Given the description of an element on the screen output the (x, y) to click on. 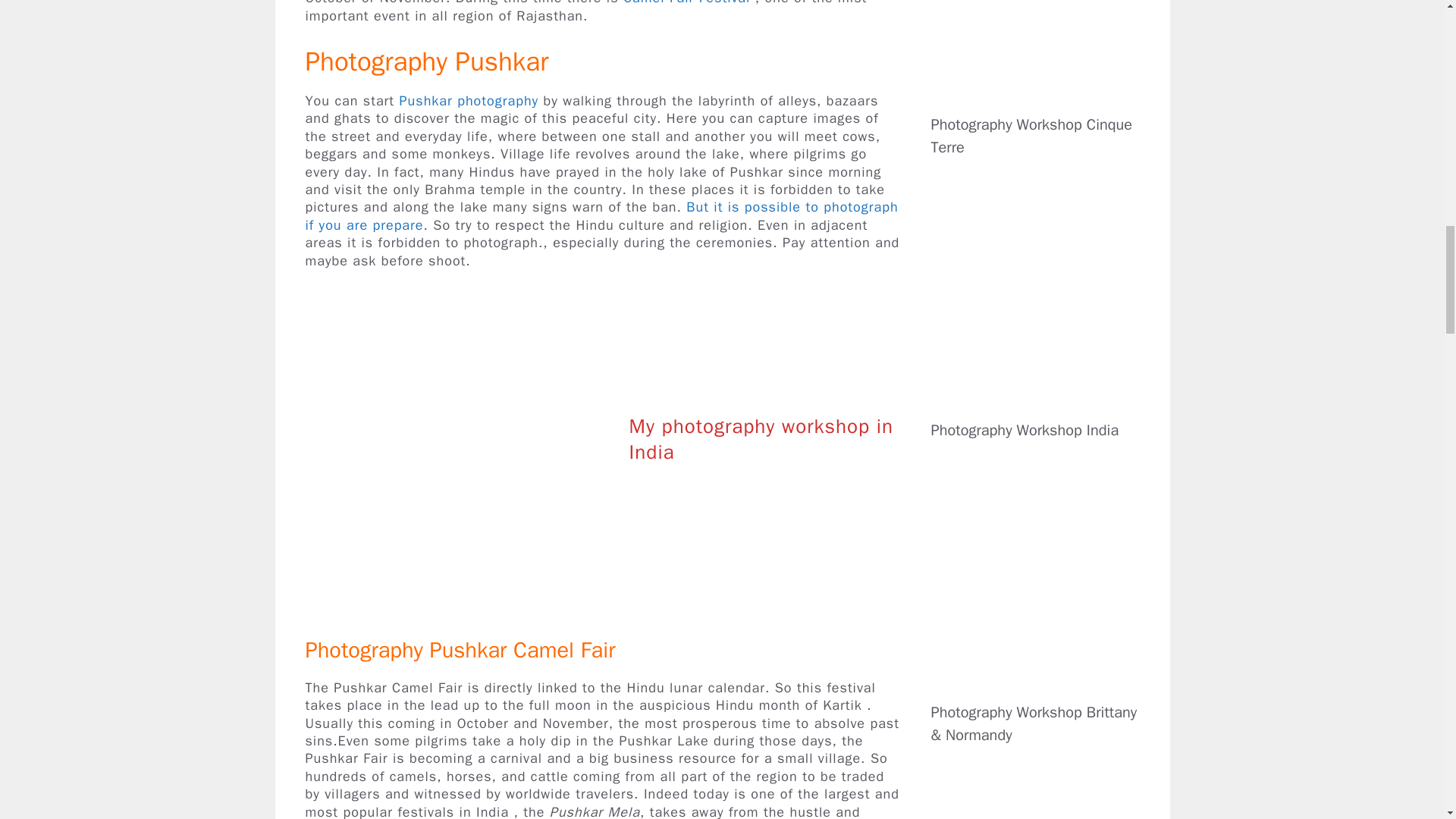
But it is possible to photograph if you are prepare (601, 215)
Camel Fair Festival (686, 2)
Pushkar photography (468, 100)
My photography workshop in India (760, 439)
